Given the description of an element on the screen output the (x, y) to click on. 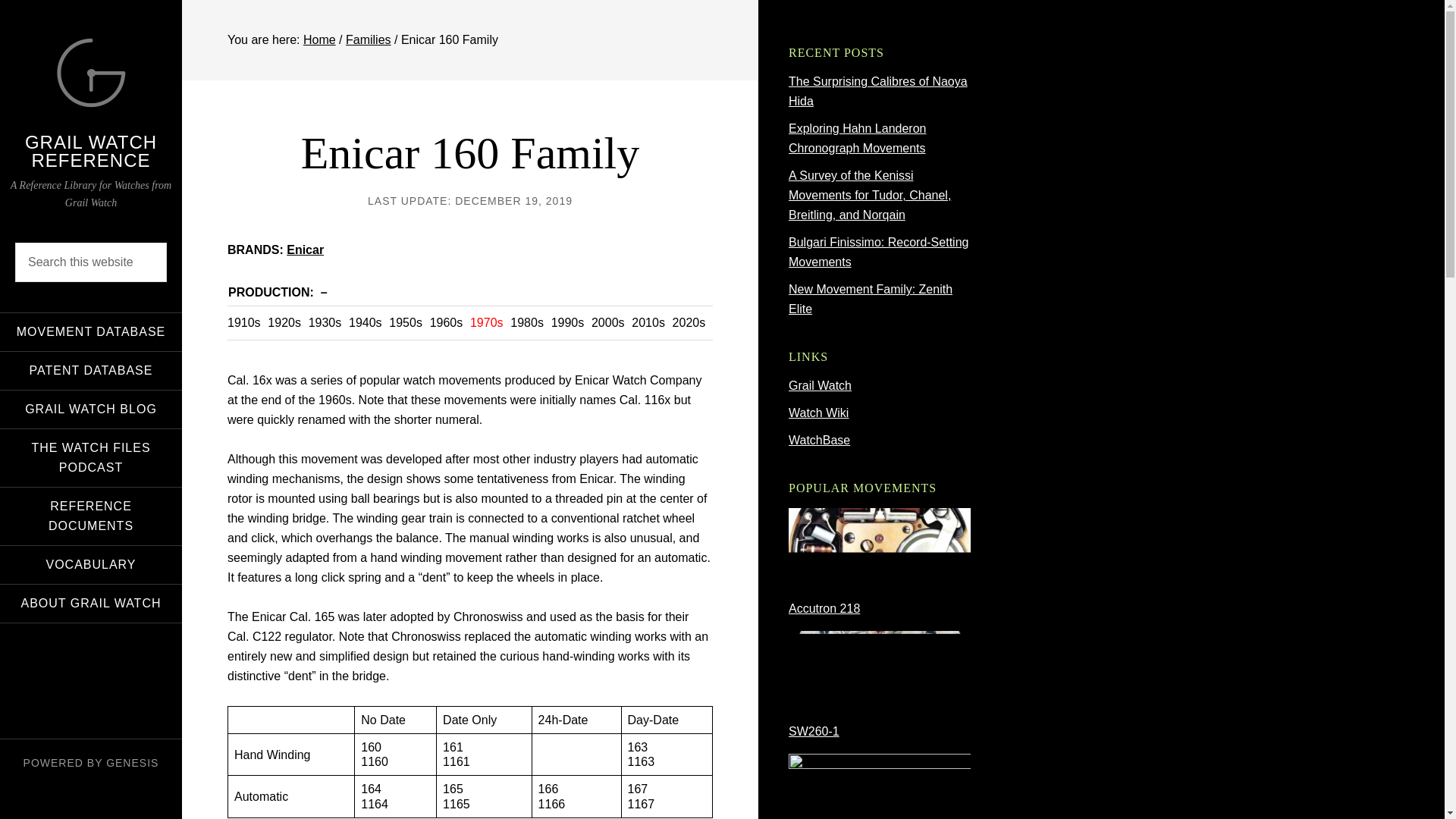
Grail Watch (820, 385)
Enicar (304, 249)
THE WATCH FILES PODCAST (91, 457)
REFERENCE DOCUMENTS (91, 515)
Exploring Hahn Landeron Chronograph Movements (857, 138)
Bulgari Finissimo: Record-Setting Movements (878, 251)
GRAIL WATCH BLOG (91, 408)
MOVEMENT DATABASE (91, 331)
The Surprising Calibres of Naoya Hida (878, 91)
Home (319, 39)
VOCABULARY (91, 564)
ABOUT GRAIL WATCH (91, 602)
